Given the description of an element on the screen output the (x, y) to click on. 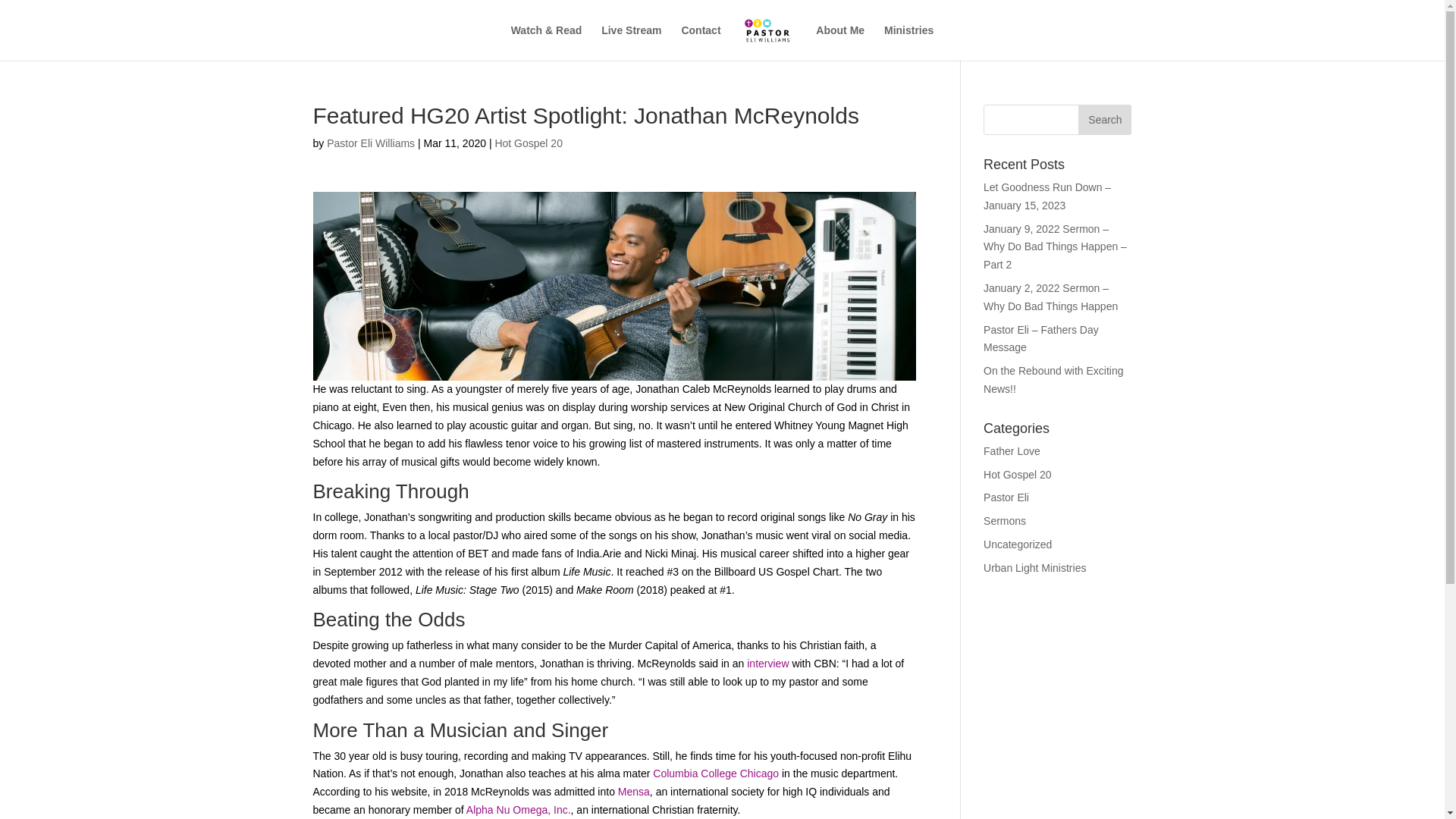
interview (769, 663)
Hot Gospel 20 (1017, 474)
Pastor Eli (1006, 497)
On the Rebound with Exciting News!! (1053, 379)
Mensa (633, 791)
Search (1104, 119)
Ministries (908, 42)
Columbia College Chicago (715, 773)
Hot Gospel 20 (528, 143)
Posts by Pastor Eli Williams (370, 143)
Alpha Nu Omega, Inc. (517, 809)
Search (1104, 119)
Contact (700, 42)
Father Love (1012, 451)
Live Stream (631, 42)
